Given the description of an element on the screen output the (x, y) to click on. 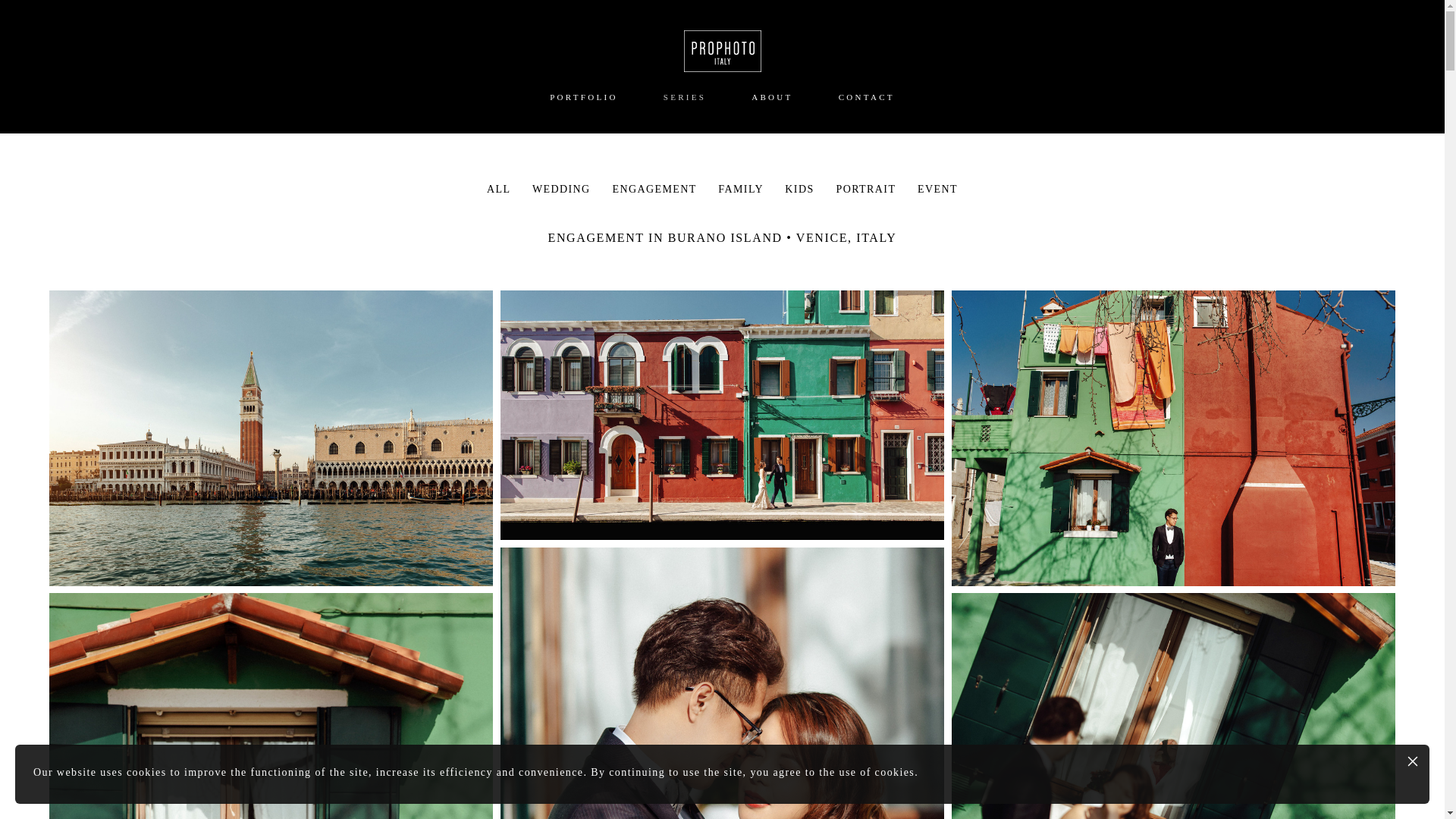
PORTFOLIO (583, 96)
PORTRAIT (867, 188)
ENGAGEMENT (655, 188)
SERIES (684, 96)
FAMILY (742, 188)
CONTACT (866, 96)
ABOUT (771, 96)
ALL (499, 188)
EVENT (937, 188)
WEDDING (563, 188)
KIDS (800, 188)
